Given the description of an element on the screen output the (x, y) to click on. 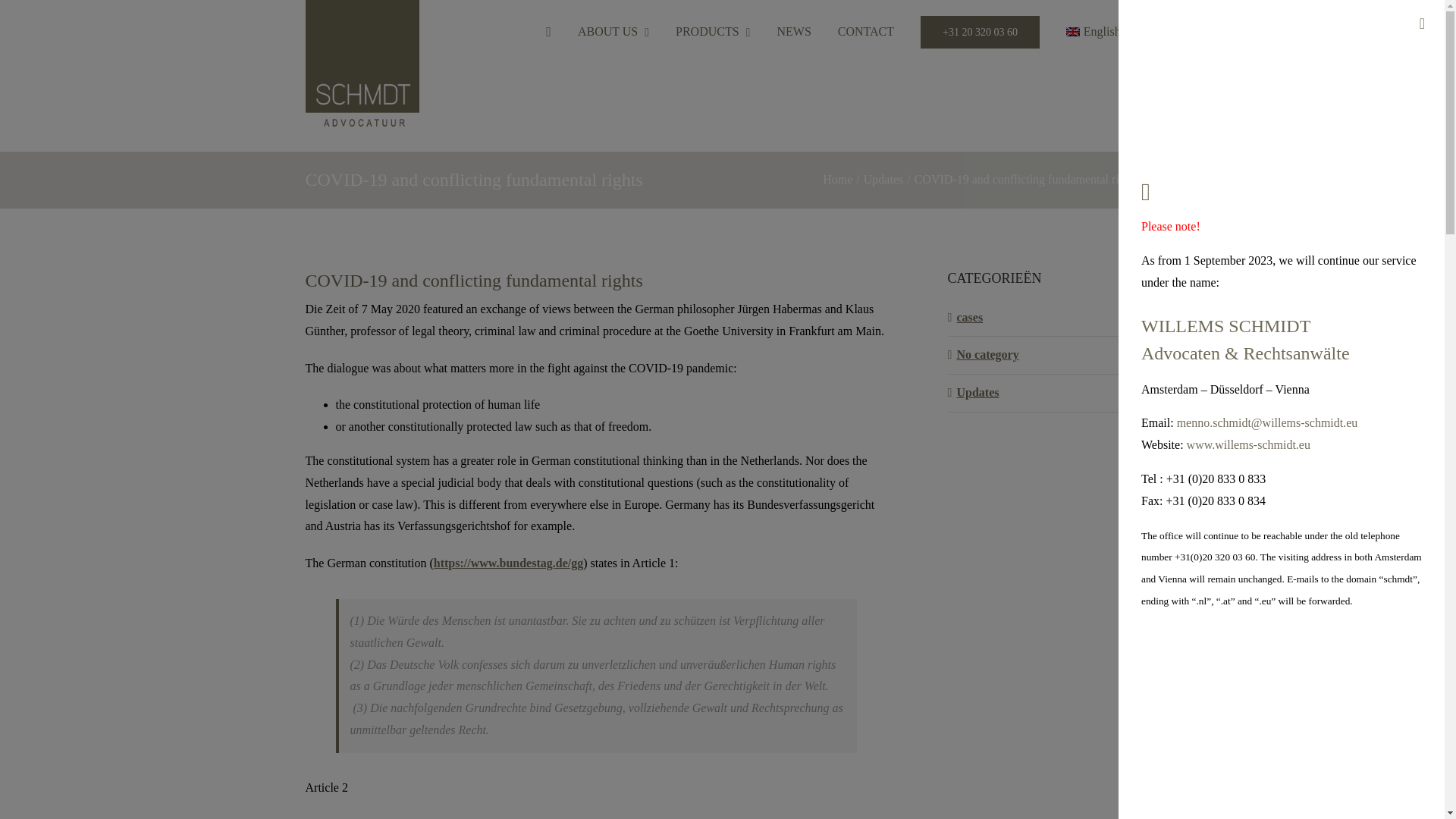
PRODUCTS (712, 31)
Updates (882, 178)
Home (836, 178)
No category (1044, 354)
cases (1044, 318)
Updates (1044, 393)
English (1098, 31)
ABOUT US (613, 31)
English (1098, 31)
www.willems-schmidt.eu (1248, 444)
